Given the description of an element on the screen output the (x, y) to click on. 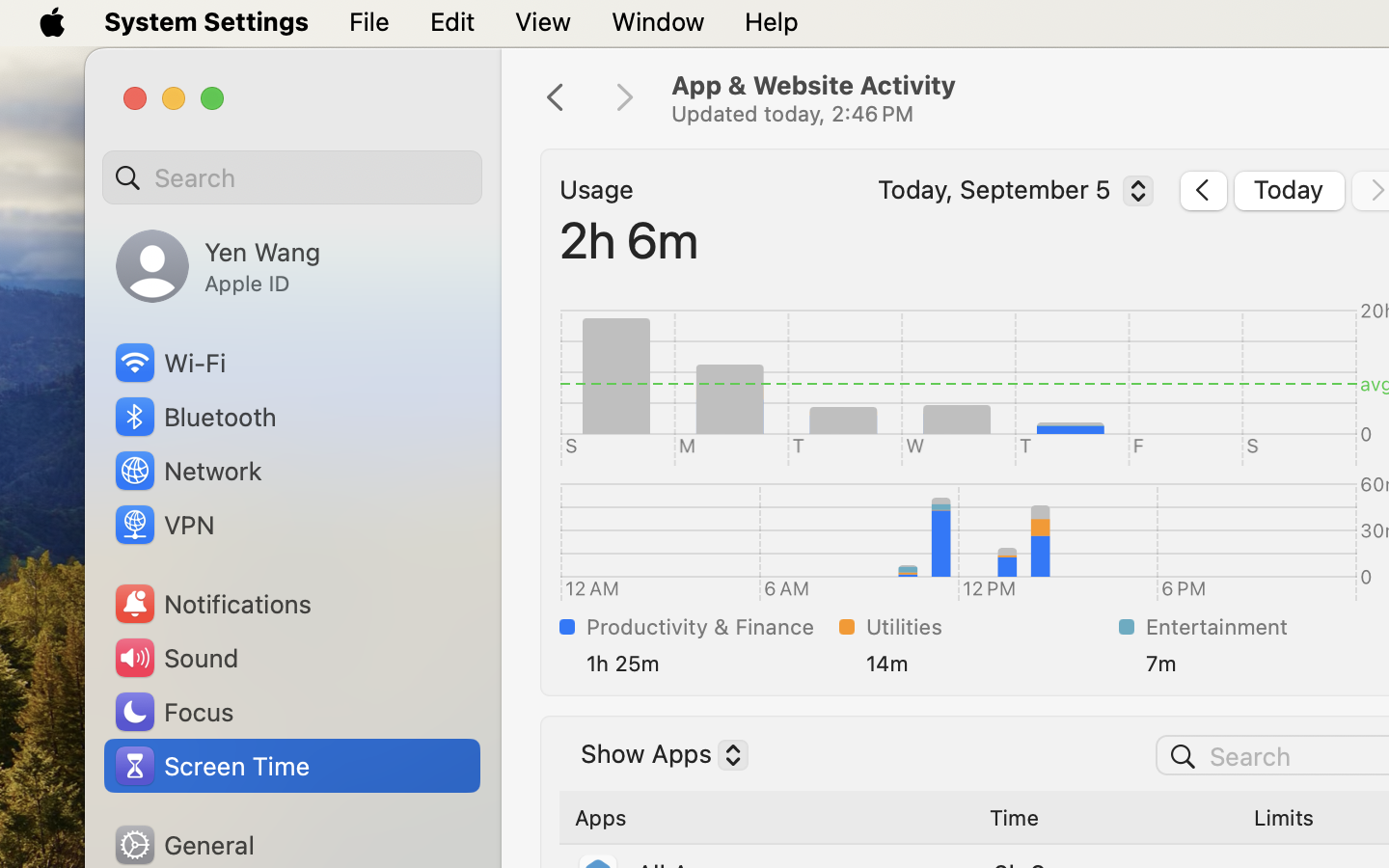
Yen Wang, Apple ID Element type: AXStaticText (217, 265)
Utilities Element type: AXStaticText (988, 626)
Show Apps Element type: AXPopUpButton (656, 756)
Productivity & Finance Element type: AXStaticText (708, 626)
Sound Element type: AXStaticText (175, 657)
